Given the description of an element on the screen output the (x, y) to click on. 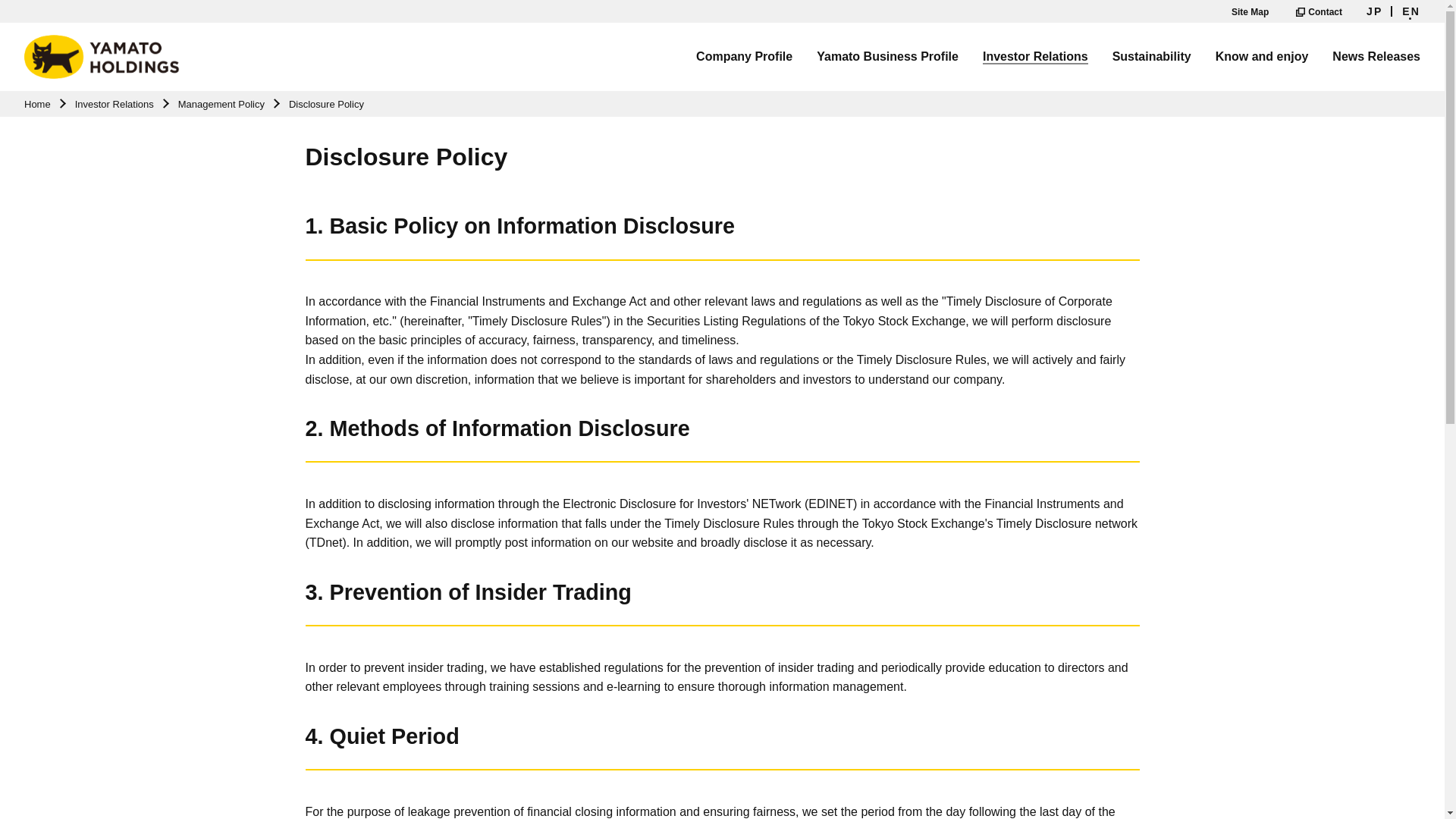
JP (1374, 10)
Site Map (1249, 11)
Yamato Business Profile (887, 56)
Company Profile (743, 56)
Investor Relations (1034, 57)
Contact (1317, 11)
Sustainability (1151, 56)
